Given the description of an element on the screen output the (x, y) to click on. 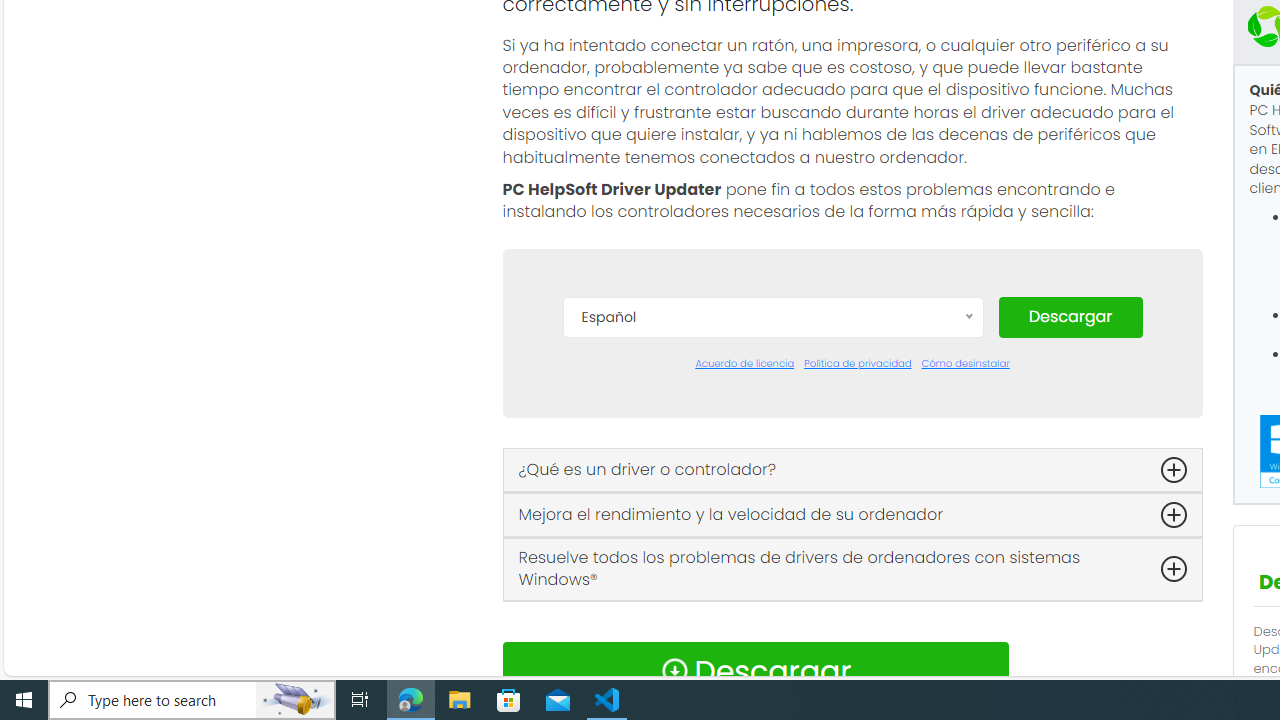
Nederlands (772, 621)
Download Icon Descargar (754, 670)
Descargar (1070, 316)
Italiano (772, 591)
Deutsch (772, 472)
Download Icon (674, 670)
Acuerdo de licencia (744, 363)
Norsk (772, 652)
English (772, 501)
